Given the description of an element on the screen output the (x, y) to click on. 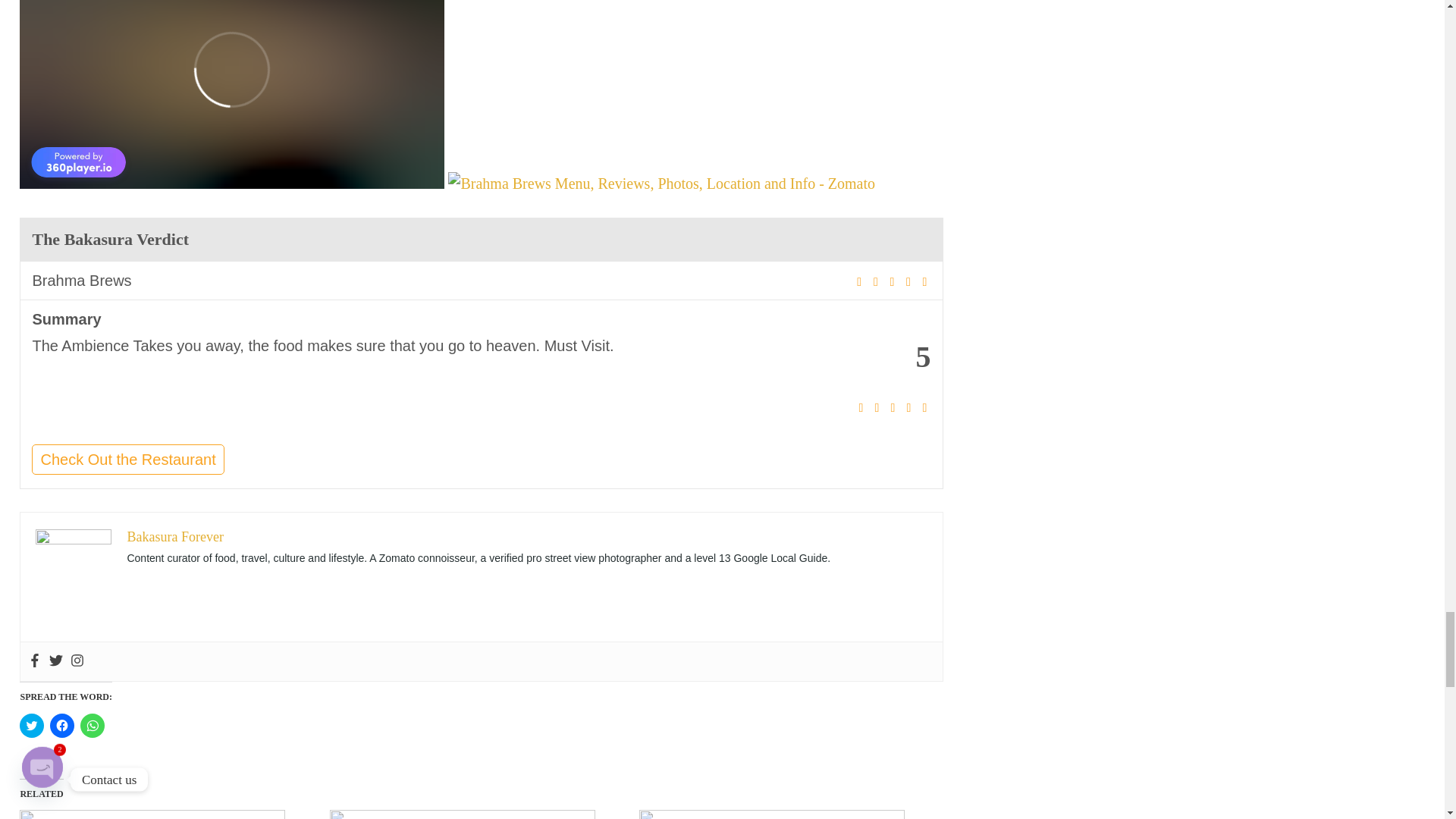
Check Out the Restaurant (128, 459)
Levitate Brewery : Let the inner you float (167, 813)
Click to share on WhatsApp (92, 725)
Click to share on Facebook (61, 725)
Click to share on Twitter (31, 725)
Bakasura Forever (174, 536)
